Given the description of an element on the screen output the (x, y) to click on. 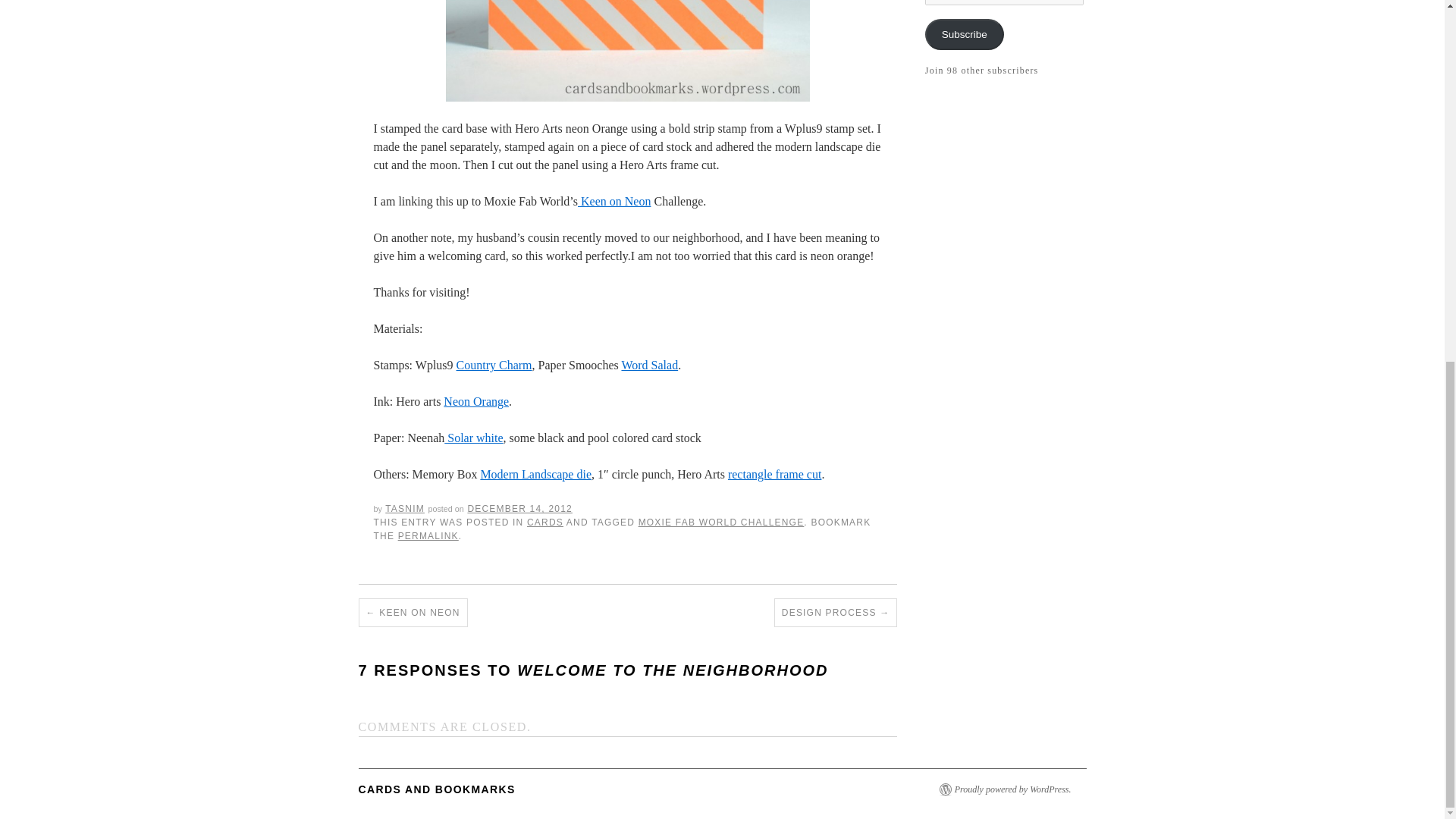
View all posts by Tasnim (405, 508)
CARDS AND BOOKMARKS (436, 788)
Modern Landscape die (535, 473)
Permalink to Welcome to the Neighborhood (427, 535)
Keen on Neon (614, 201)
DECEMBER 14, 2012 (519, 508)
Word Salad (649, 364)
Solar white (473, 437)
Country Charm (494, 364)
3:53 am (519, 508)
